Given the description of an element on the screen output the (x, y) to click on. 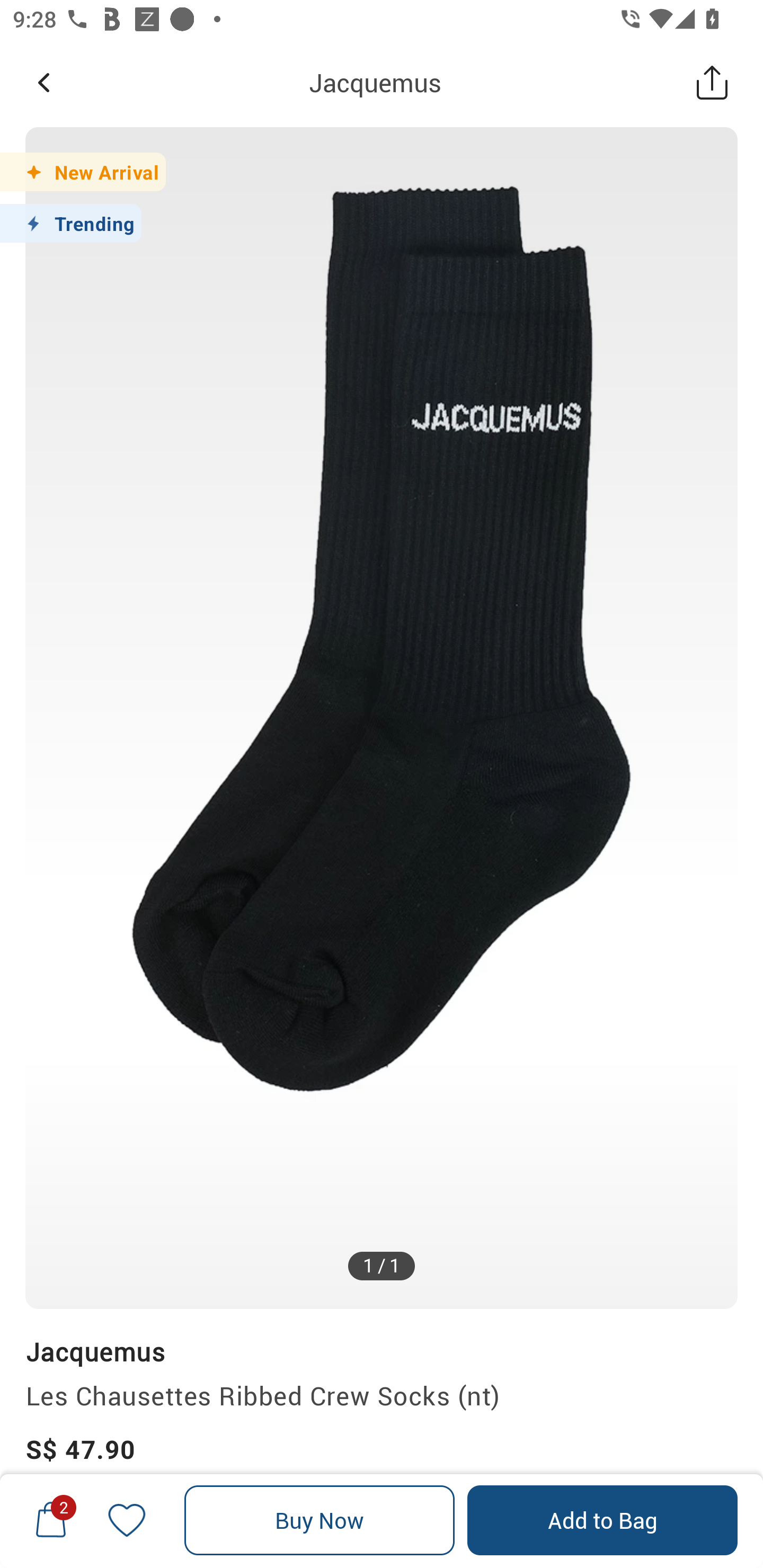
Jacquemus (375, 82)
Share this Product (711, 82)
Jacquemus (95, 1351)
Buy Now (319, 1519)
Add to Bag (601, 1519)
2 (50, 1520)
